Given the description of an element on the screen output the (x, y) to click on. 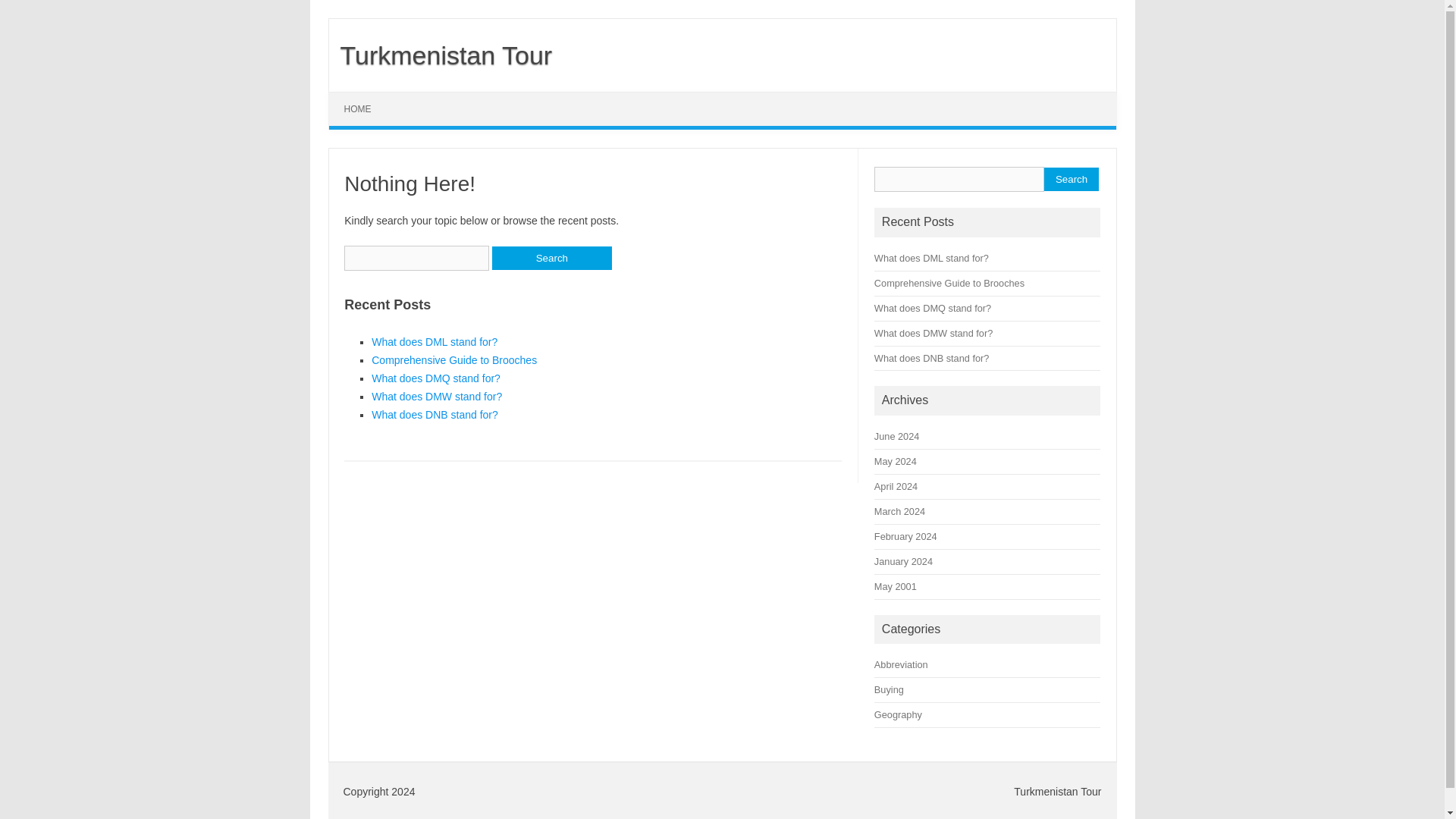
Search (551, 258)
Skip to content (363, 96)
Search (1070, 178)
What does DMQ stand for? (435, 378)
Turkmenistan Tour (441, 54)
May 2024 (896, 460)
What does DMW stand for? (933, 333)
Search (1070, 178)
April 2024 (896, 486)
January 2024 (904, 561)
Abbreviation (901, 664)
Comprehensive Guide to Brooches (454, 359)
What does DNB stand for? (434, 414)
What does DMW stand for? (436, 396)
March 2024 (899, 511)
